Given the description of an element on the screen output the (x, y) to click on. 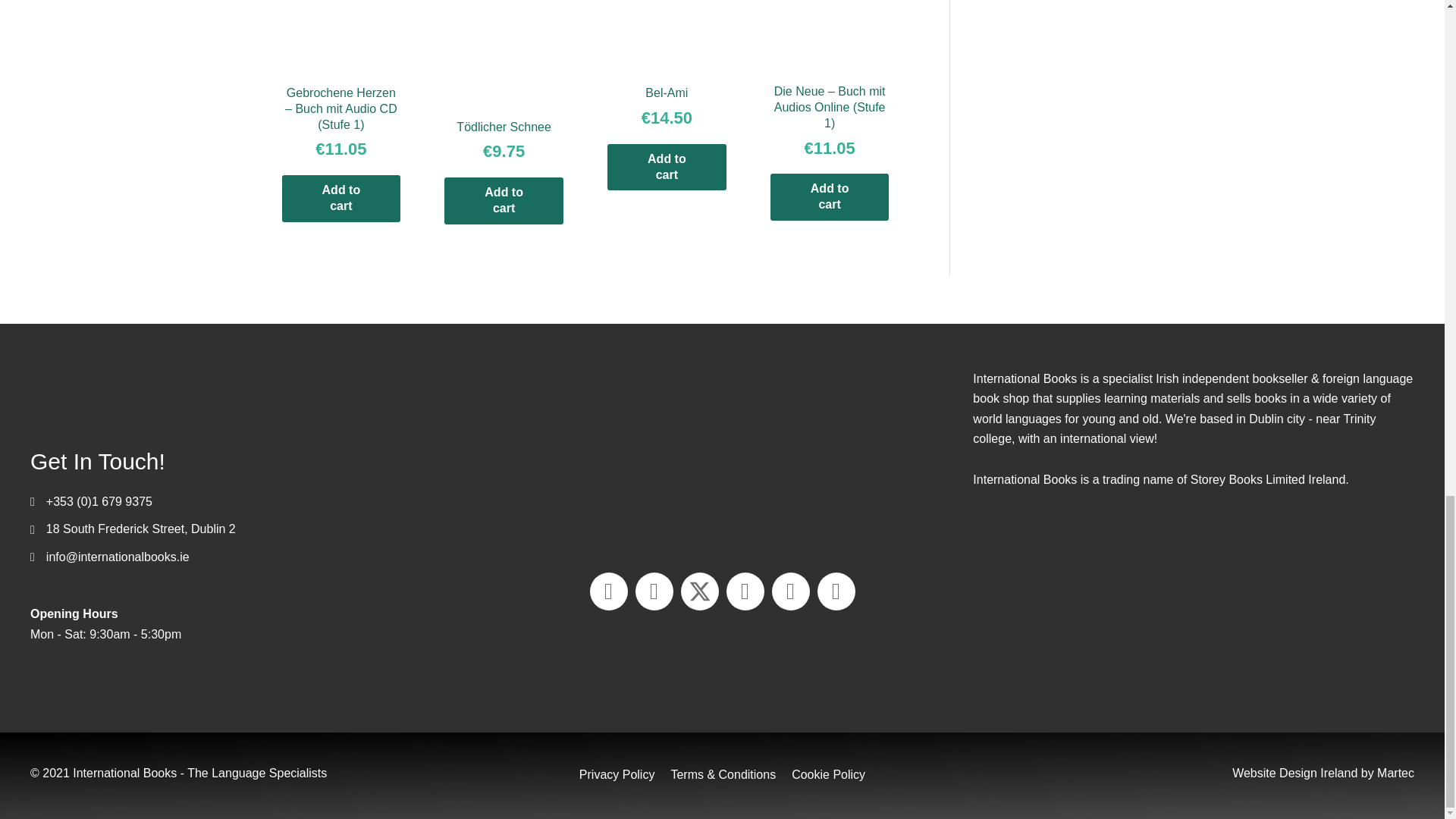
TikTok (836, 591)
Instagram (790, 591)
Email (608, 591)
logo-leo (1193, 614)
Facebook (653, 591)
logo-stripe-secure-payments-1 (722, 455)
logo-white (181, 392)
Website Design Galway (1293, 772)
